Given the description of an element on the screen output the (x, y) to click on. 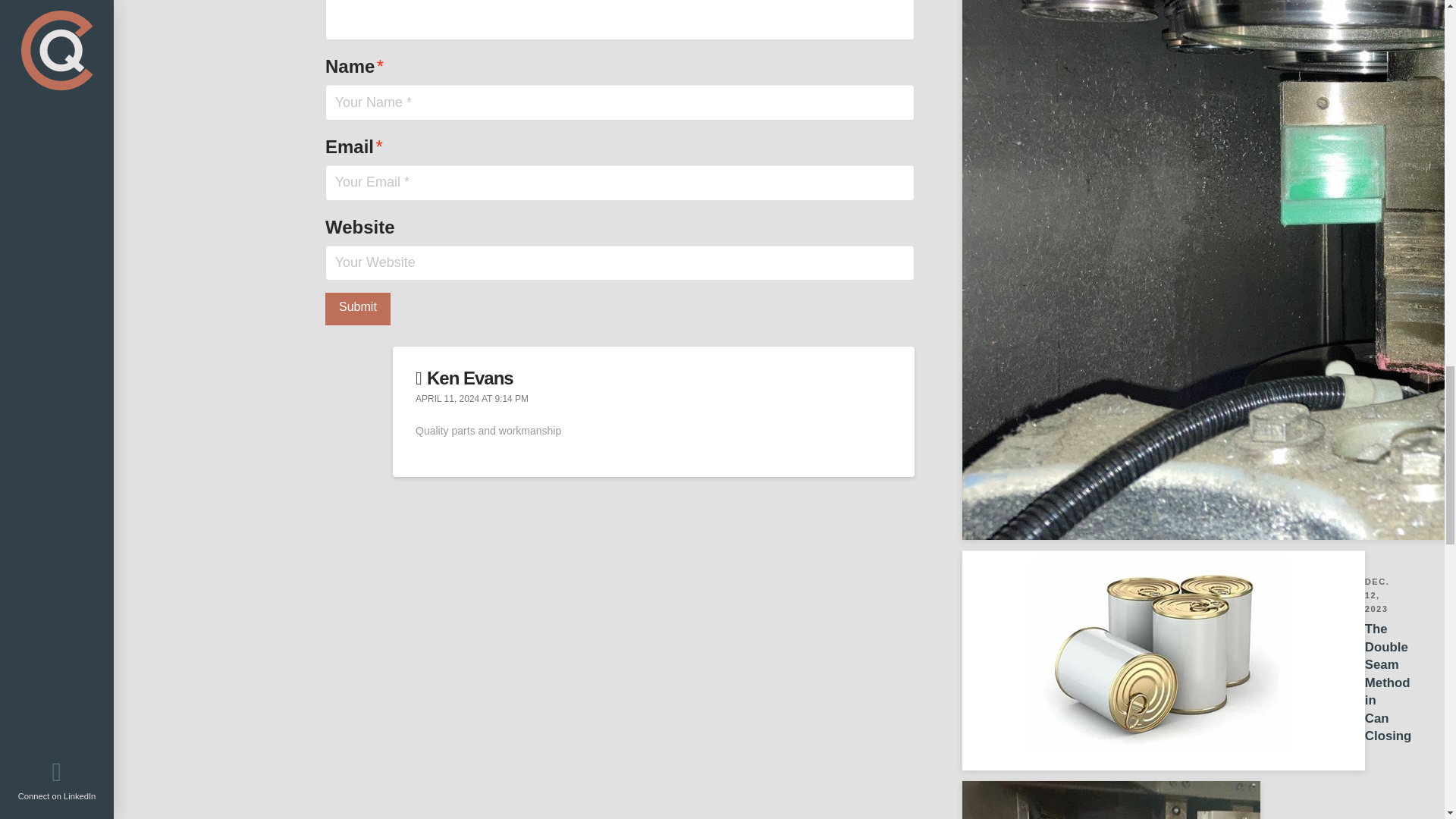
Submit (357, 308)
APRIL 11, 2024 AT 9:14 PM (1097, 800)
